Given the description of an element on the screen output the (x, y) to click on. 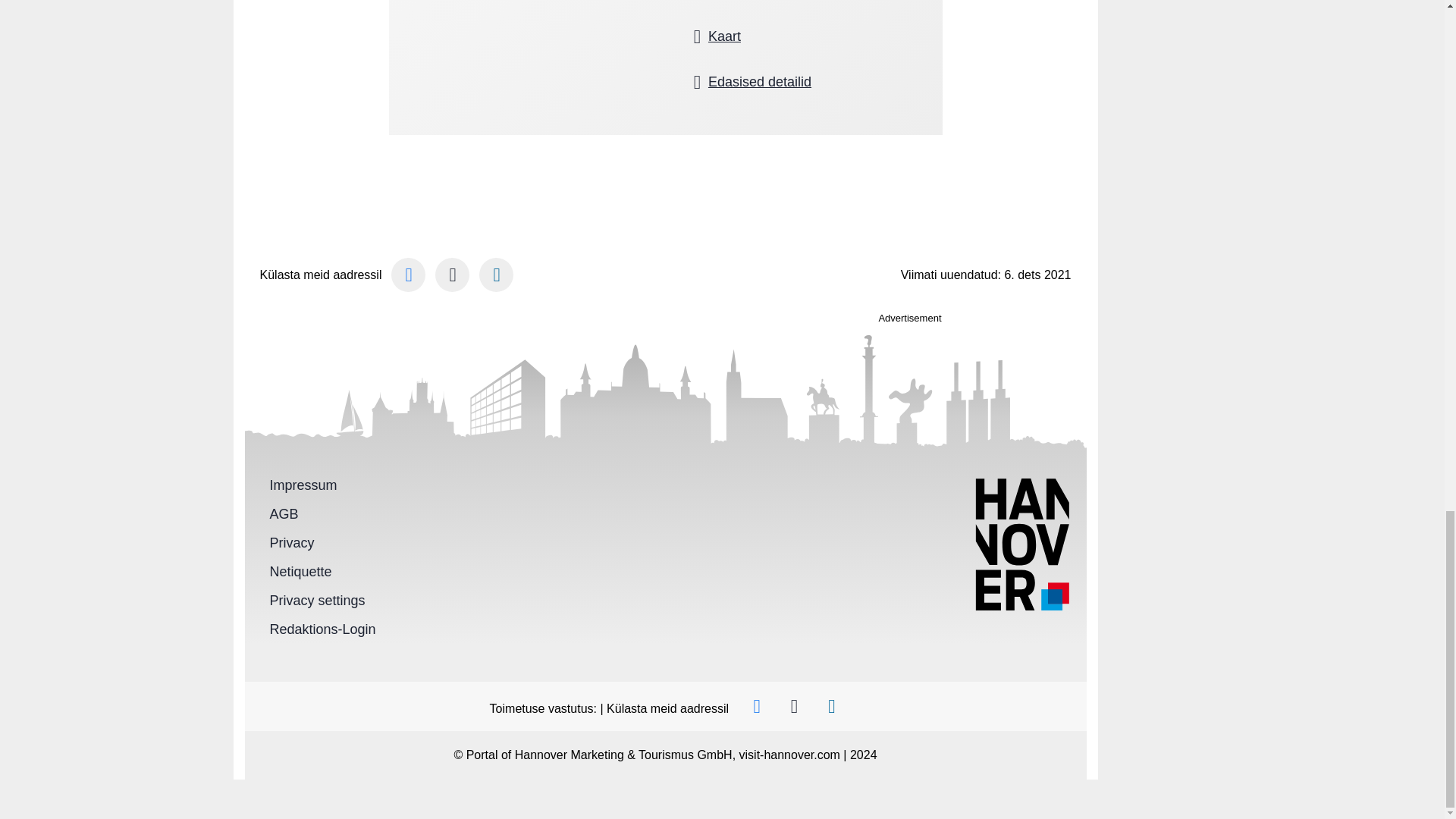
Instagram (451, 274)
Hannover Congress and Events  (775, 81)
LinkedIn (496, 274)
Instagram (793, 705)
Facebook (408, 274)
Facebook (755, 705)
LinkedIn (831, 705)
